Given the description of an element on the screen output the (x, y) to click on. 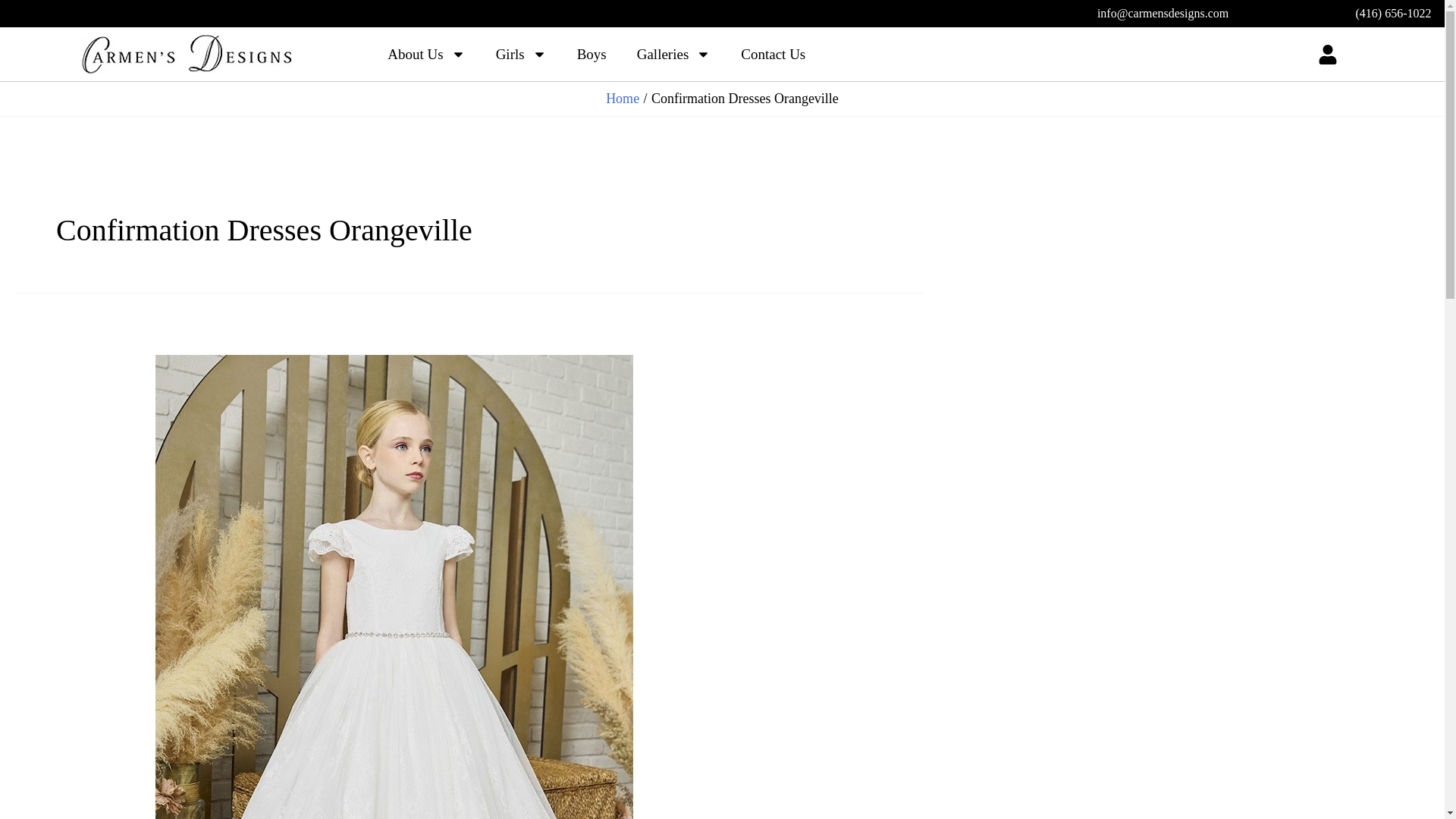
Girls (521, 53)
Boys (591, 53)
Contact Us (773, 53)
Galleries (673, 53)
About Us (426, 53)
Home (622, 98)
